Given the description of an element on the screen output the (x, y) to click on. 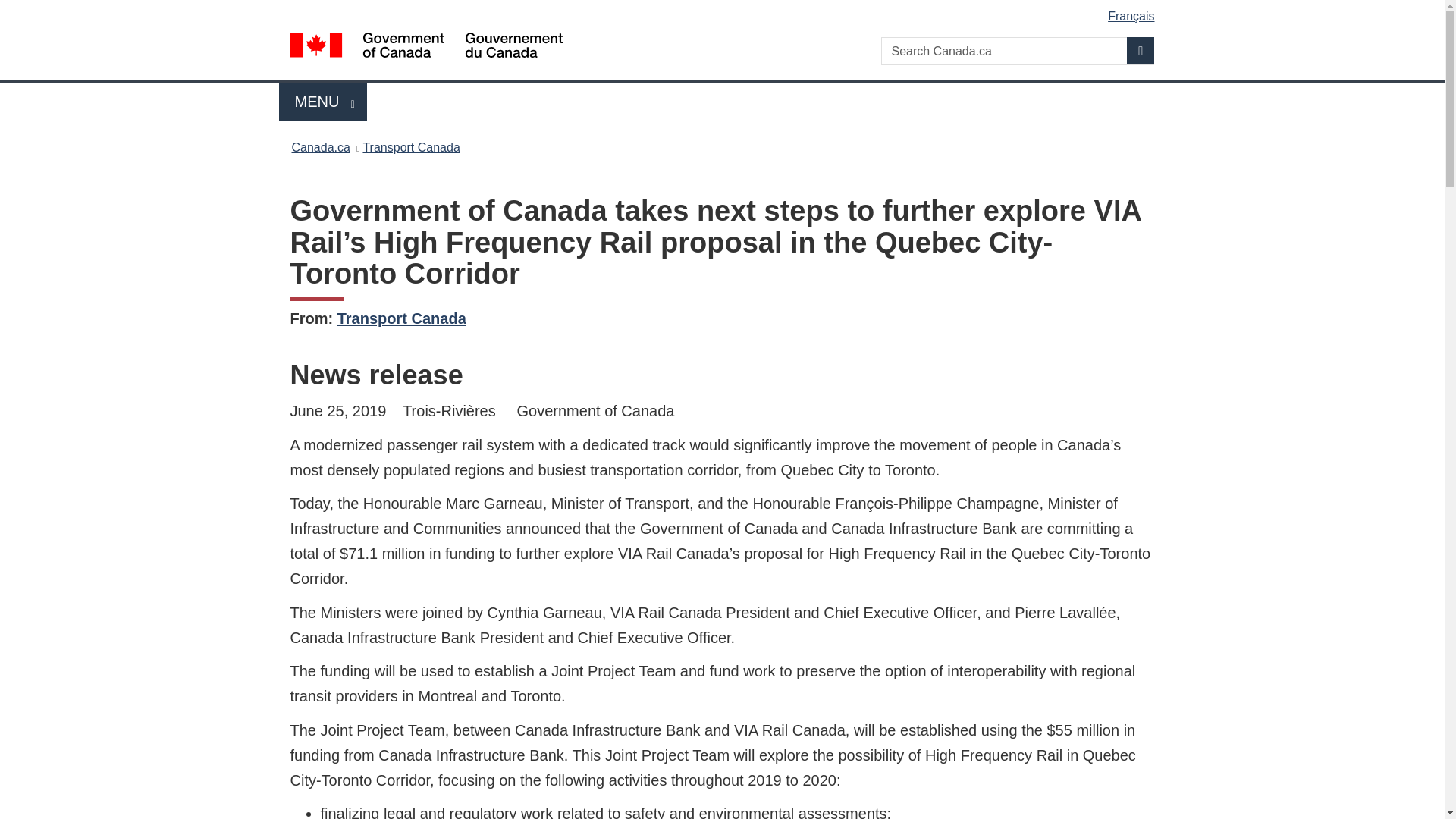
Transport Canada (401, 318)
Search (1140, 50)
Canada.ca (320, 147)
Transport Canada (322, 101)
Skip to main content (411, 147)
